Given the description of an element on the screen output the (x, y) to click on. 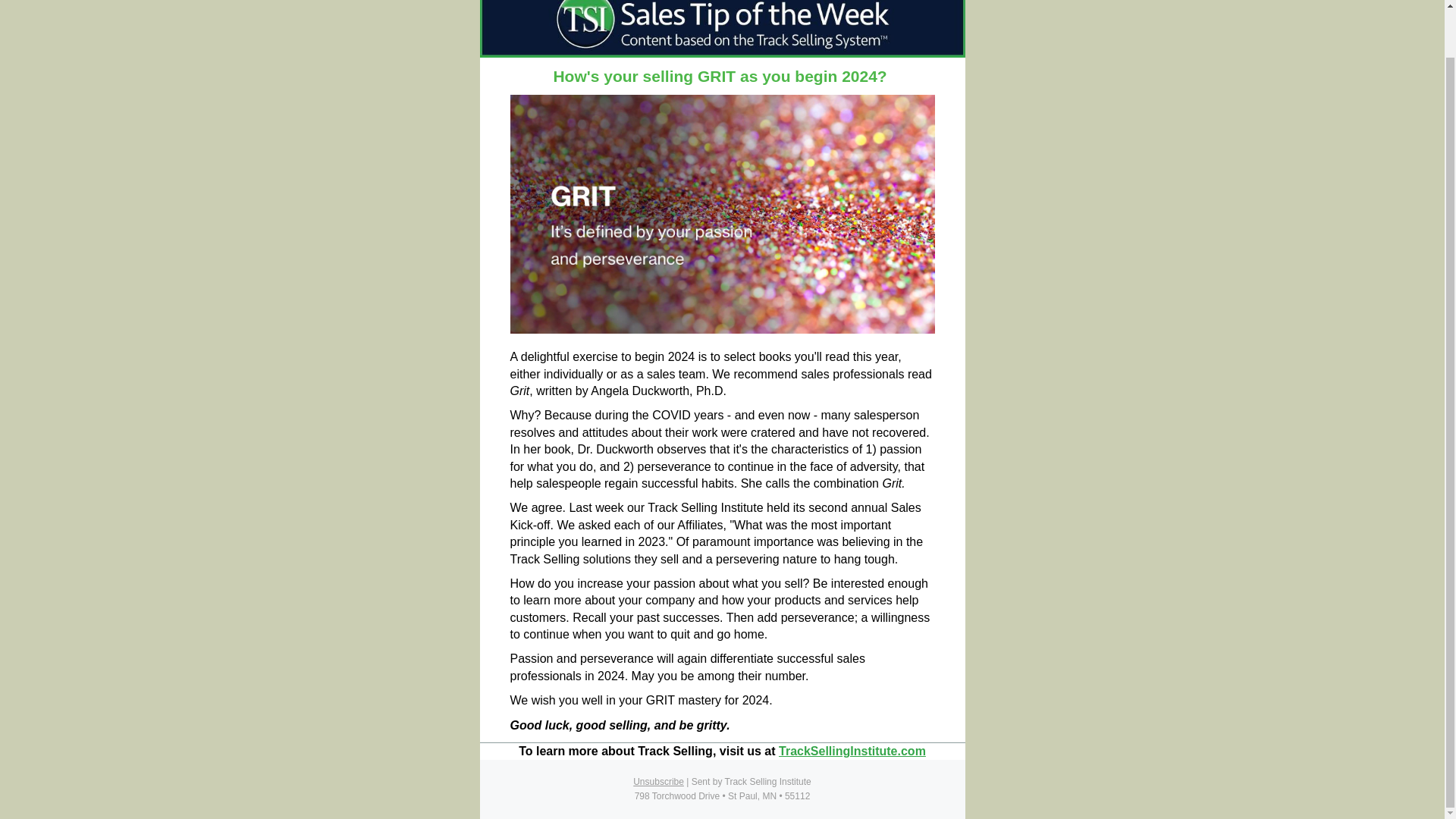
Unsubscribe (658, 781)
Track Selling Institute (852, 750)
TrackSellingInstitute.com (852, 750)
